Given the description of an element on the screen output the (x, y) to click on. 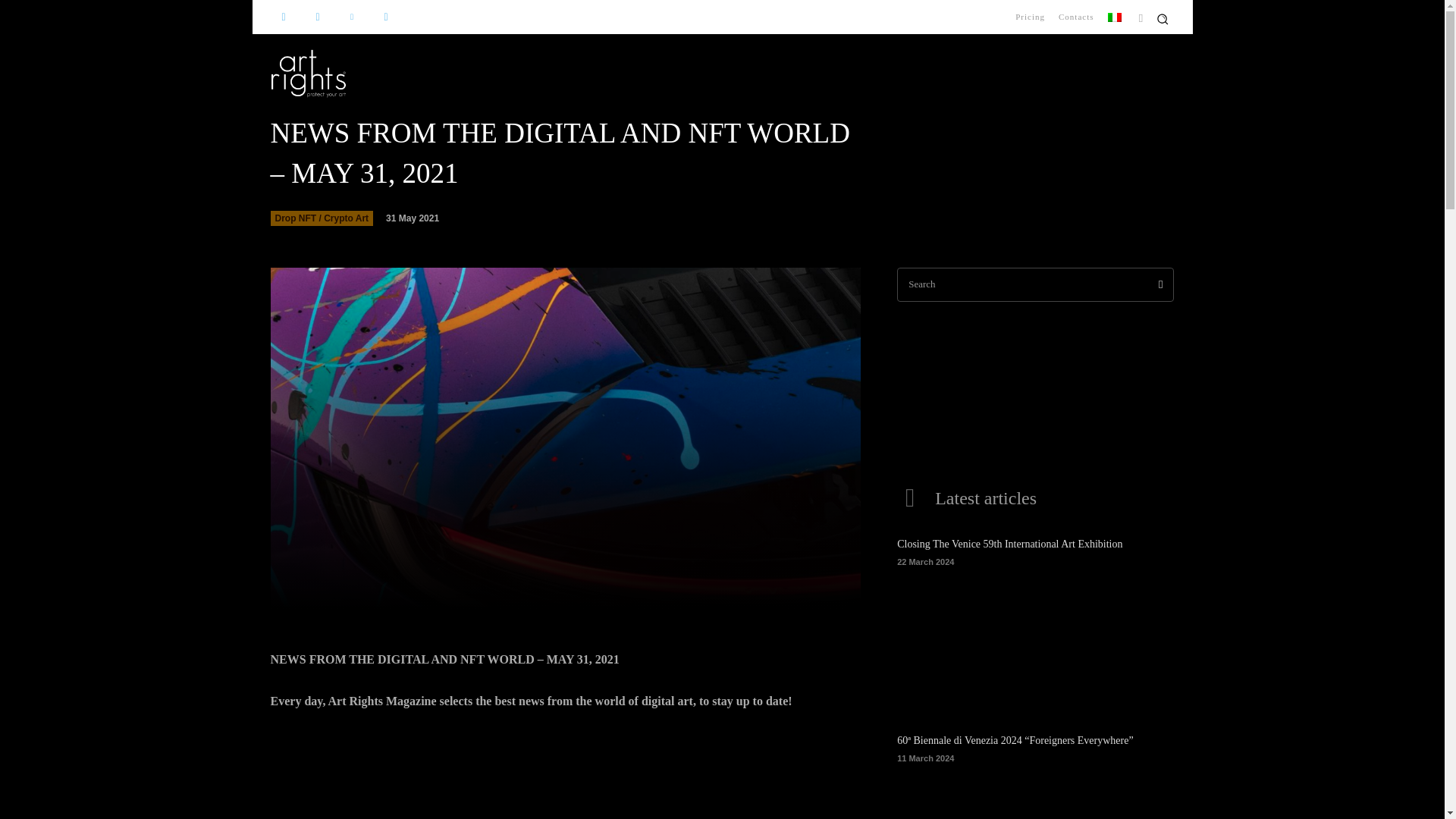
Linkedin (351, 17)
Contacts (1075, 16)
Instagram (317, 17)
Facebook (283, 17)
Pricing (1030, 16)
Spotify (385, 17)
